Given the description of an element on the screen output the (x, y) to click on. 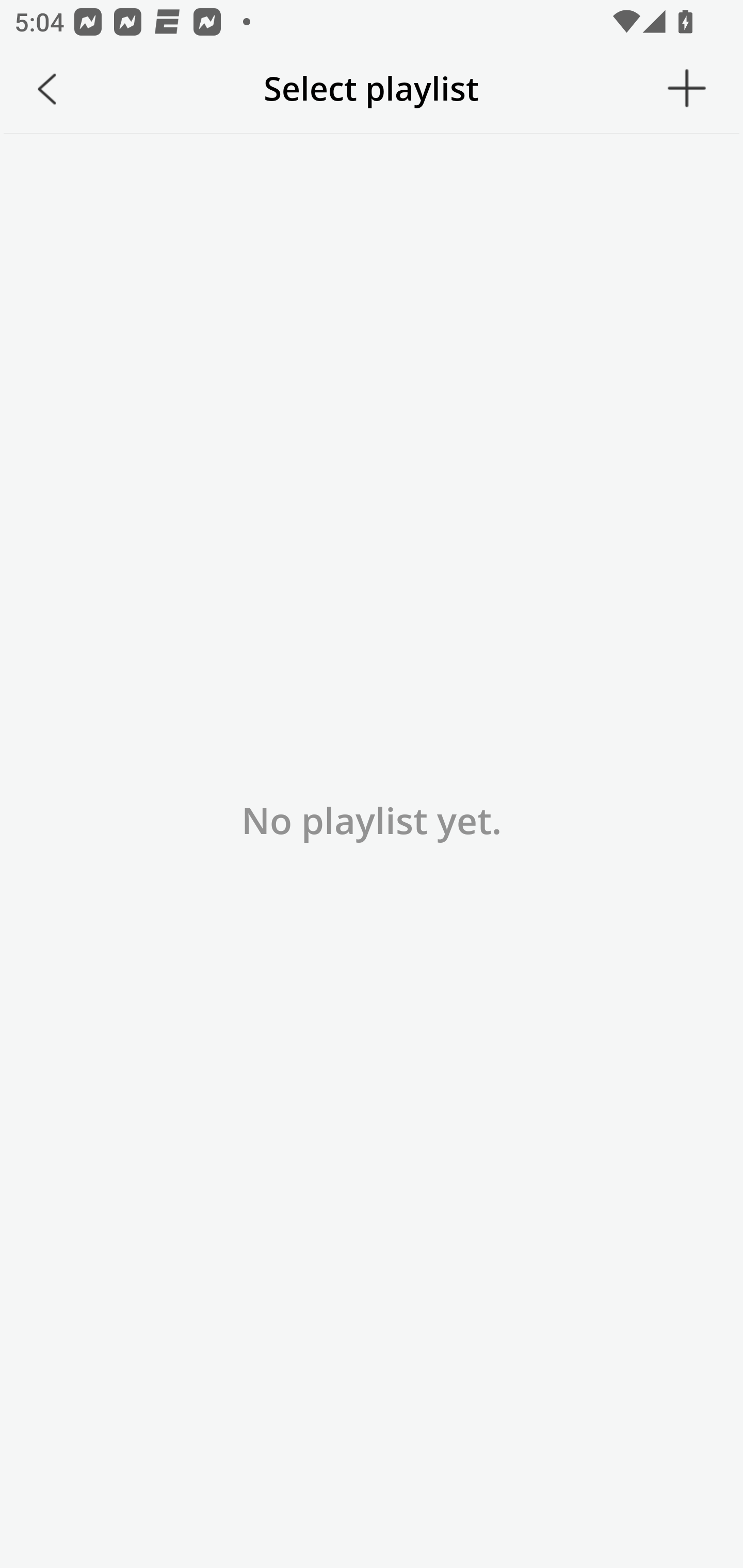
Back (46, 88)
